Given the description of an element on the screen output the (x, y) to click on. 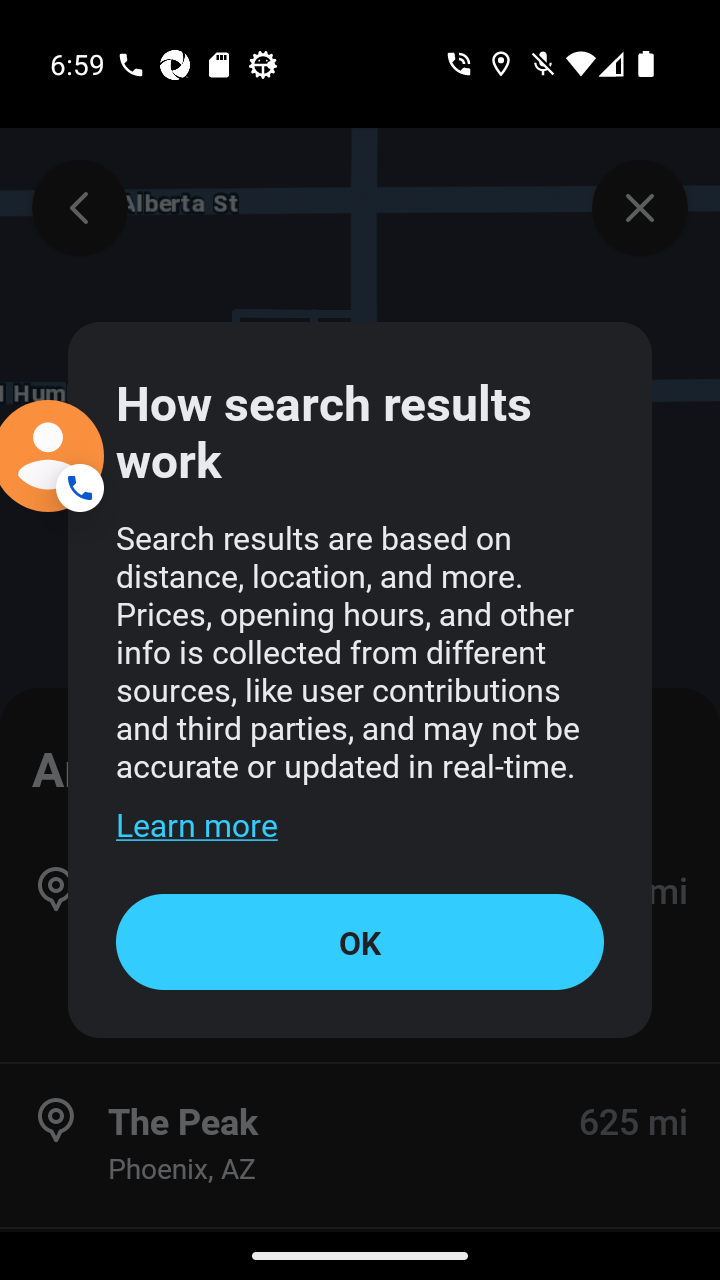
Learn more (196, 824)
OK (359, 941)
